Given the description of an element on the screen output the (x, y) to click on. 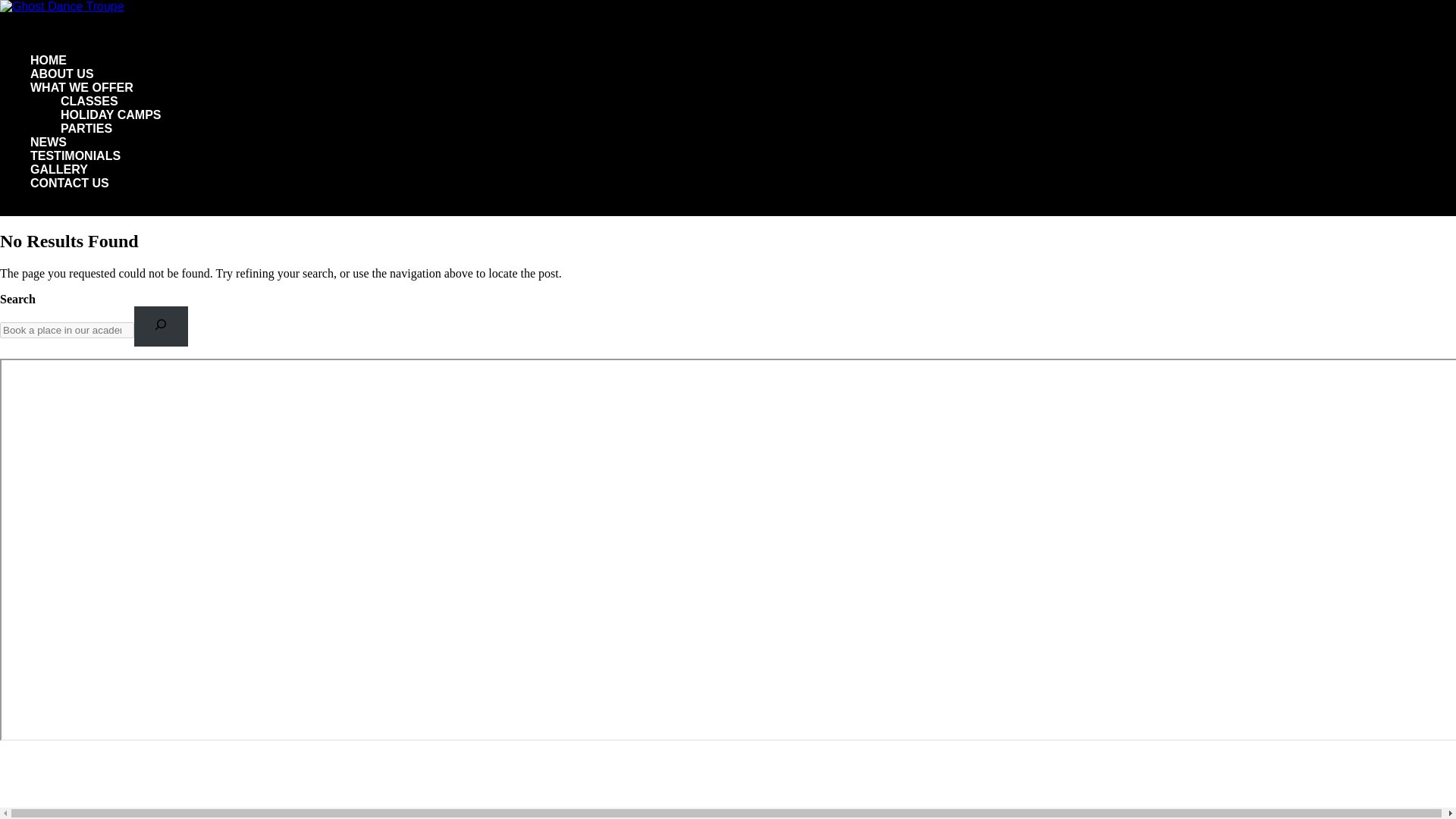
CLASSES (89, 101)
GALLERY (58, 182)
TESTIMONIALS (75, 169)
HOME (48, 74)
NEWS (48, 155)
WHAT WE OFFER (81, 101)
CONTACT US (69, 196)
ABOUT US (62, 87)
HOLIDAY CAMPS (110, 114)
PARTIES (86, 128)
